Given the description of an element on the screen output the (x, y) to click on. 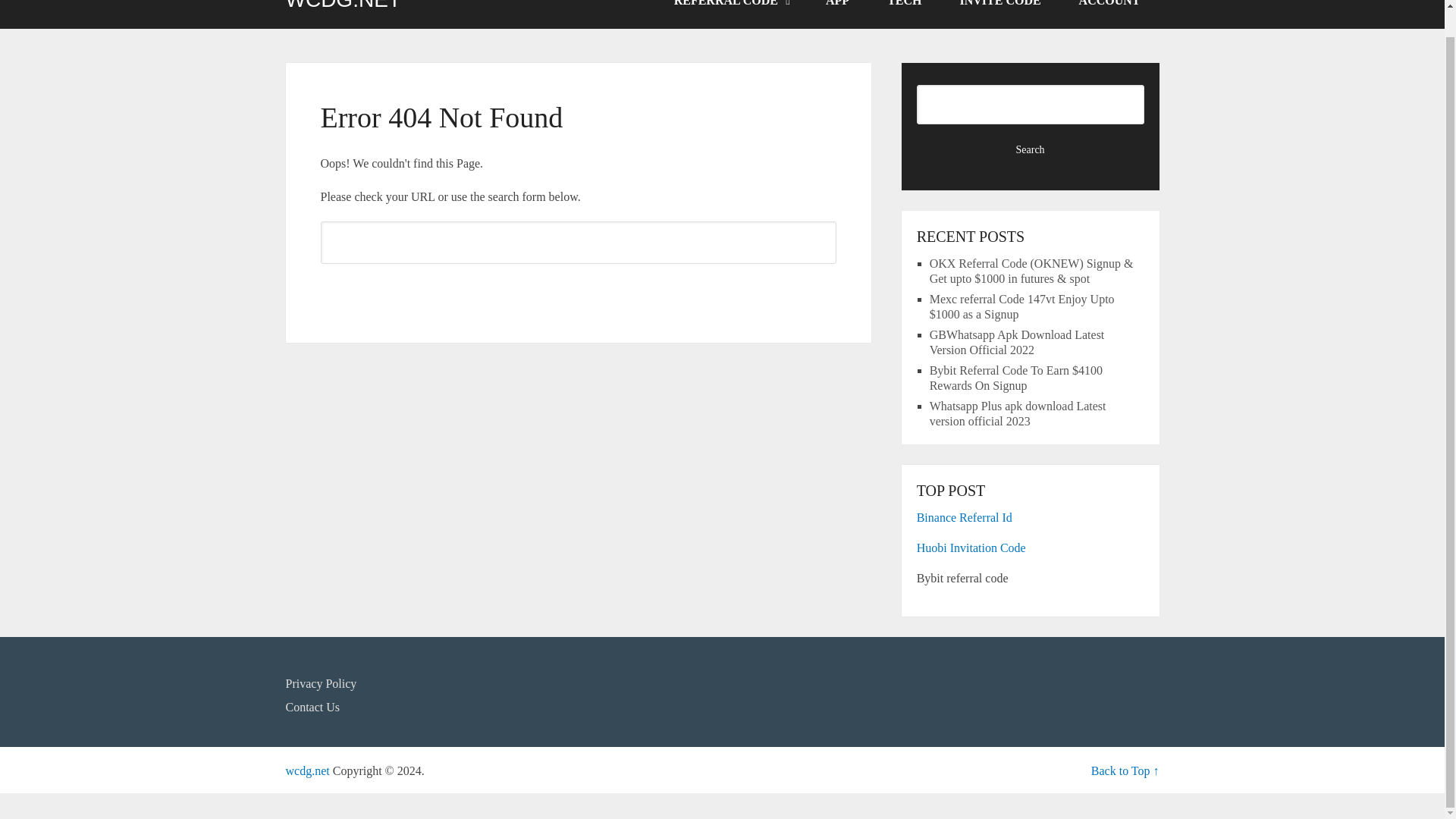
GBWhatsapp Apk Download Latest Version Official 2022 (1017, 342)
Privacy Policy (320, 683)
APP (836, 14)
Search (577, 289)
Binance Referral Id (964, 517)
Contact Us (312, 707)
Search (577, 289)
ACCOUNT (1108, 14)
Huobi Invitation Code (971, 547)
TECH (903, 14)
Search (1030, 149)
WCDG.NET (342, 5)
Search (1030, 149)
wcdg.net (307, 770)
REFERRAL CODE (730, 14)
